Given the description of an element on the screen output the (x, y) to click on. 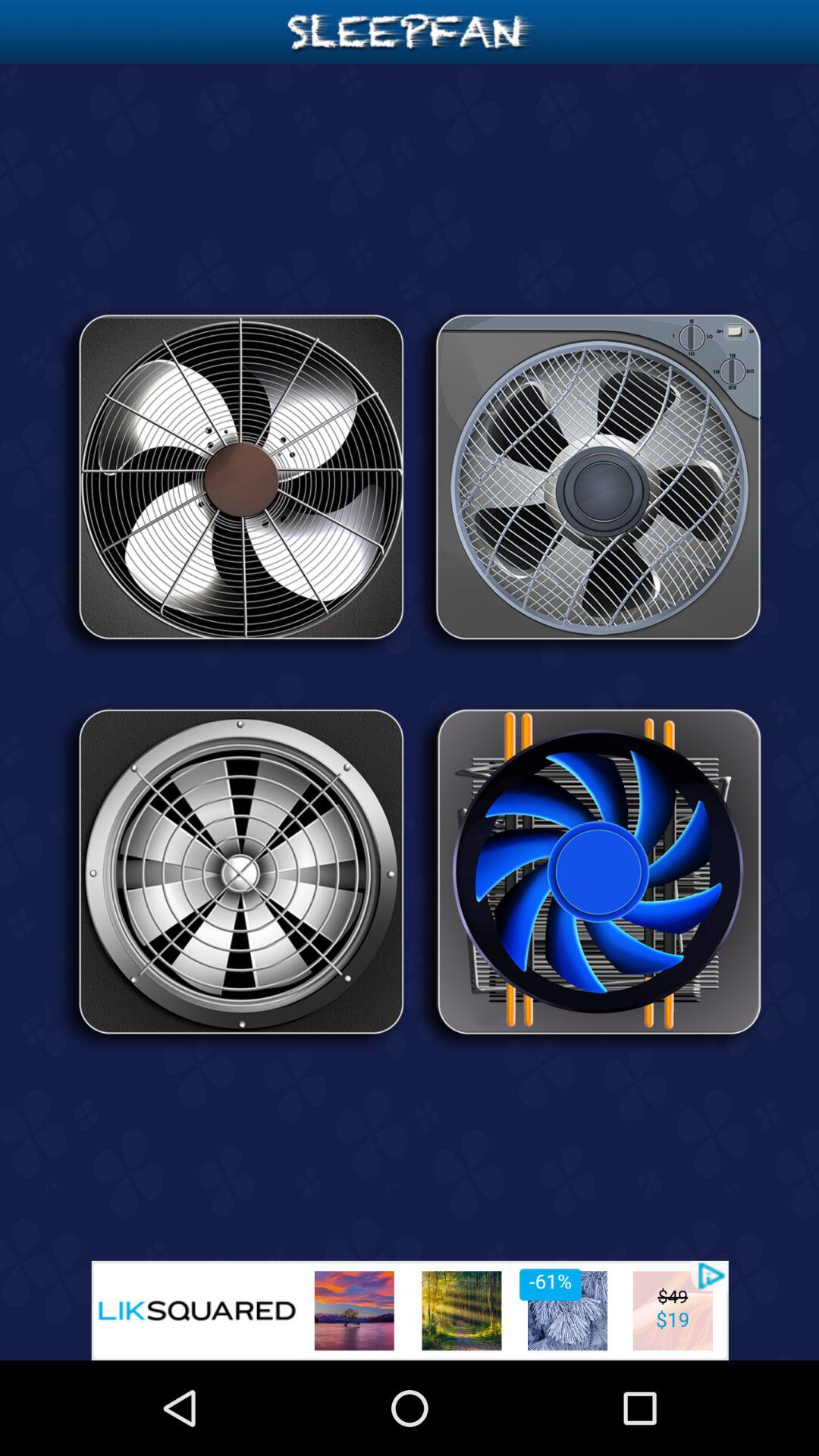
launch the icon on the right (587, 877)
